Given the description of an element on the screen output the (x, y) to click on. 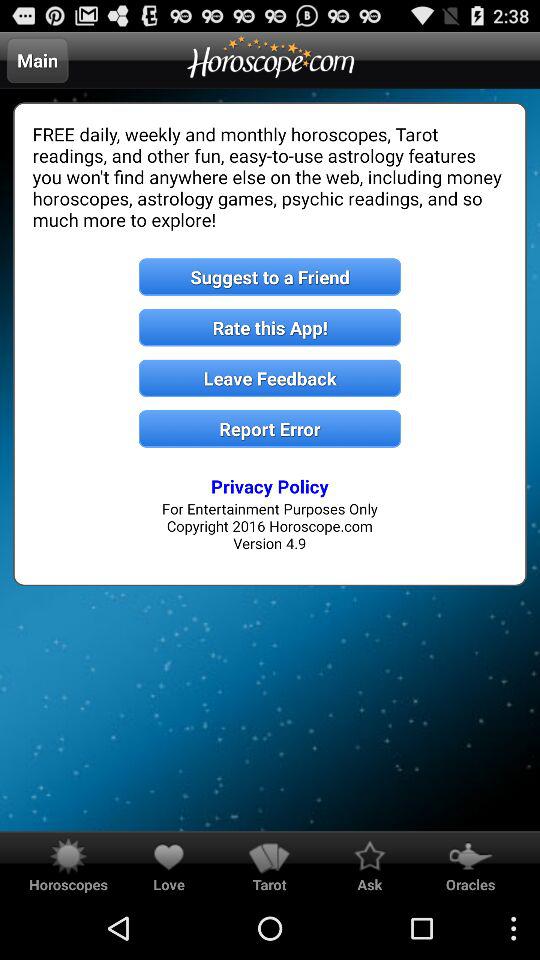
tap suggest to a (269, 276)
